Given the description of an element on the screen output the (x, y) to click on. 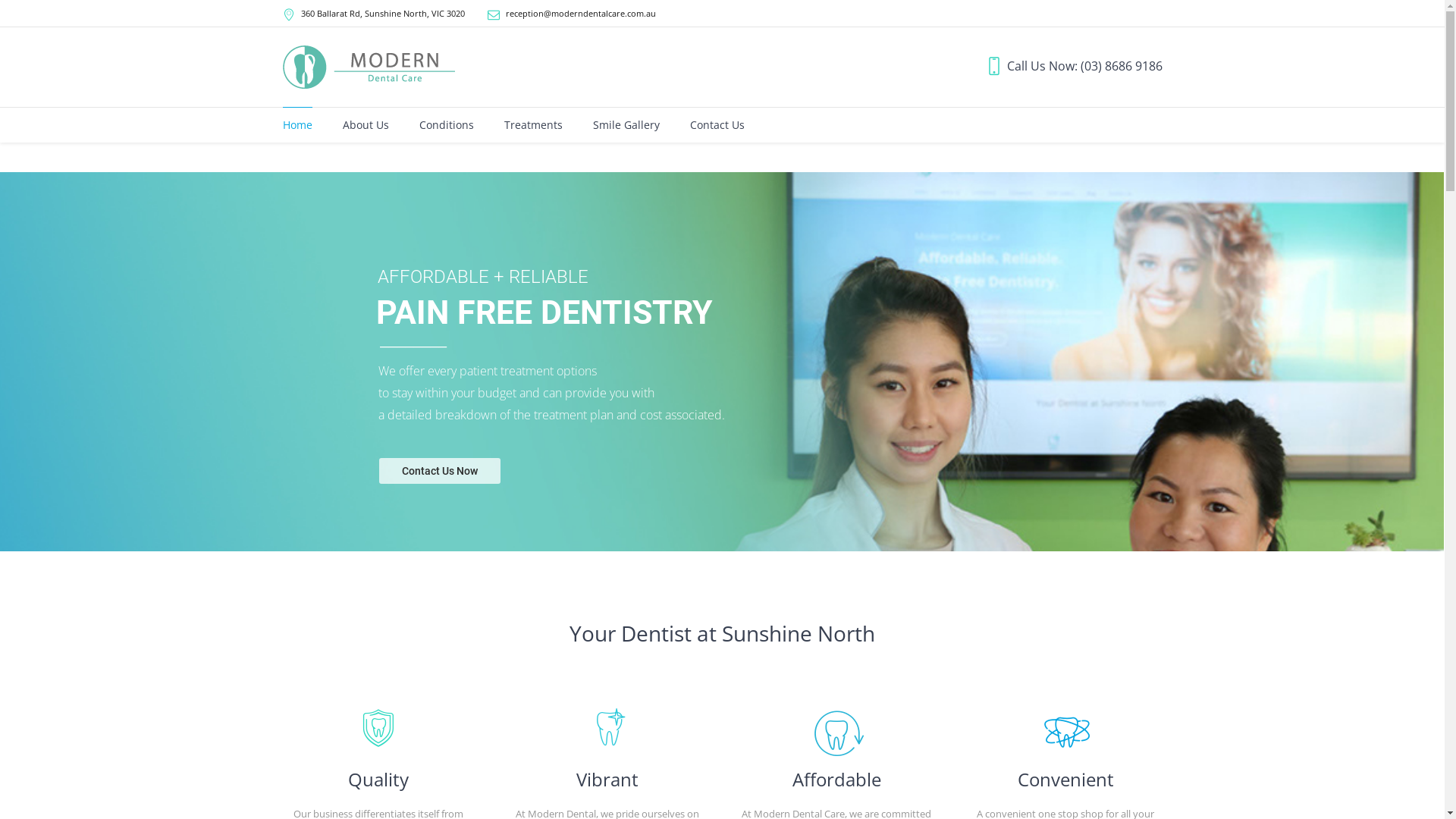
360 Ballarat Rd, Sunshine North, VIC 3020 Element type: text (382, 12)
About Us Element type: text (365, 124)
Conditions Element type: text (445, 124)
Smile Gallery Element type: text (626, 124)
(03) 8686 9186 Element type: text (1120, 65)
reception@moderndentalcare.com.au Element type: text (580, 12)
Home Element type: text (296, 124)
Contact Us Now Element type: text (439, 470)
Contact Us Element type: text (717, 124)
Treatments Element type: text (532, 124)
